Given the description of an element on the screen output the (x, y) to click on. 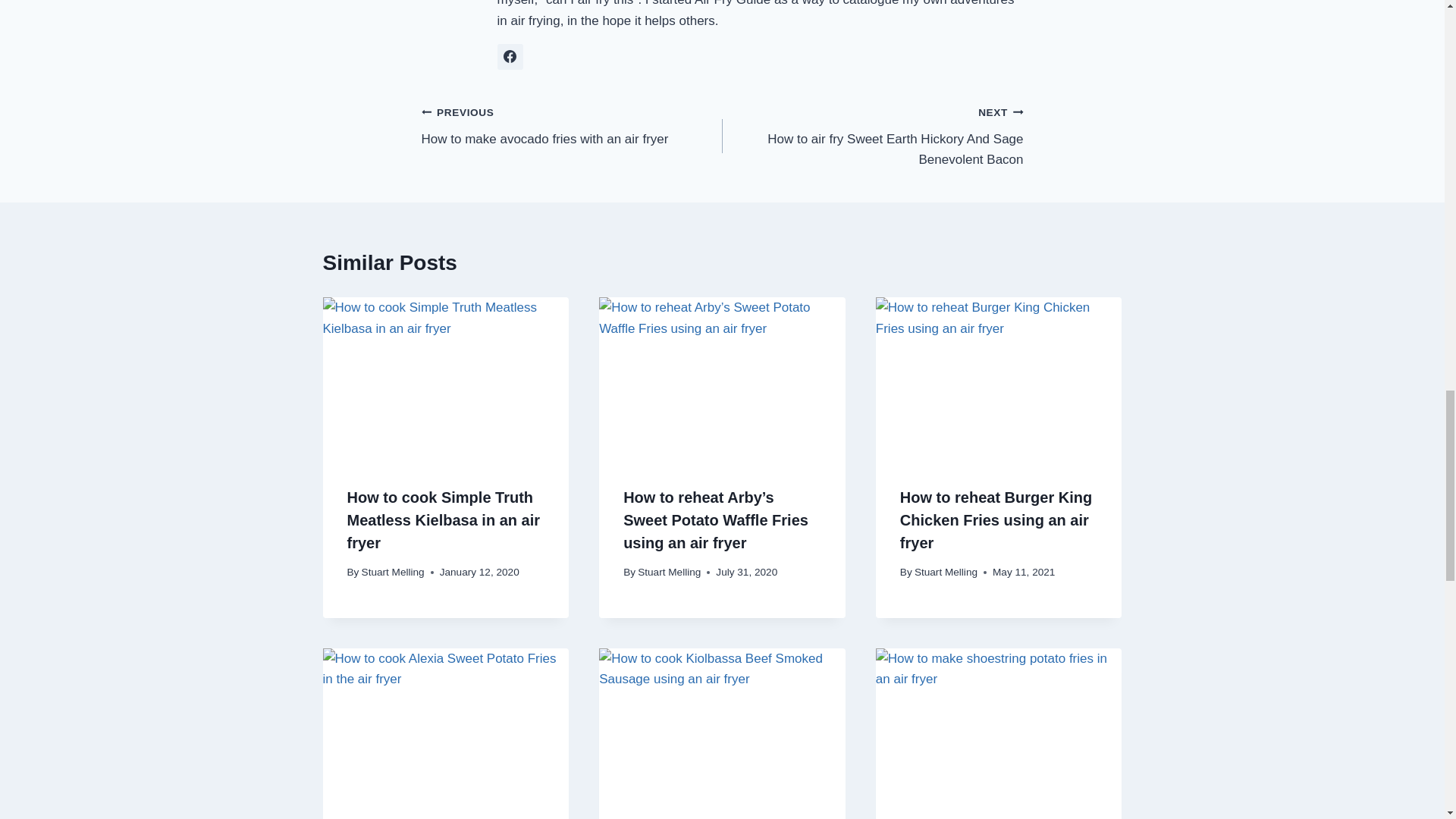
How to cook Simple Truth Meatless Kielbasa in an air fryer (572, 125)
Stuart Melling (443, 519)
Stuart Melling (668, 572)
Follow Stuart Melling on Facebook (393, 572)
